Given the description of an element on the screen output the (x, y) to click on. 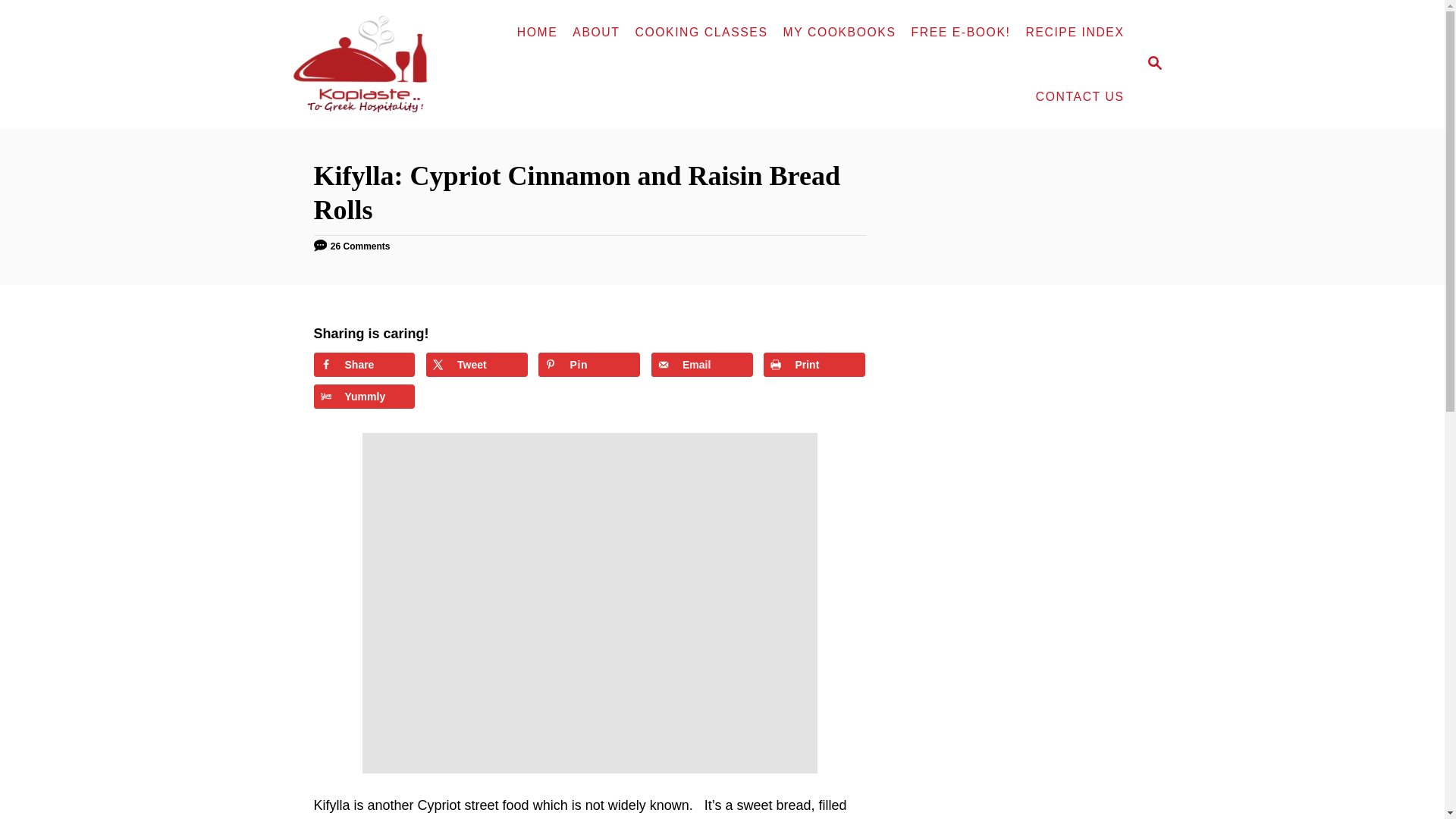
CONTACT US (1079, 96)
Kopiaste..to Greek Hospitality (370, 64)
Share on Facebook (364, 364)
Email (701, 364)
FREE E-BOOK! (960, 32)
HOME (537, 32)
Send over email (701, 364)
Pin (589, 364)
Share on Yummly (364, 396)
